Given the description of an element on the screen output the (x, y) to click on. 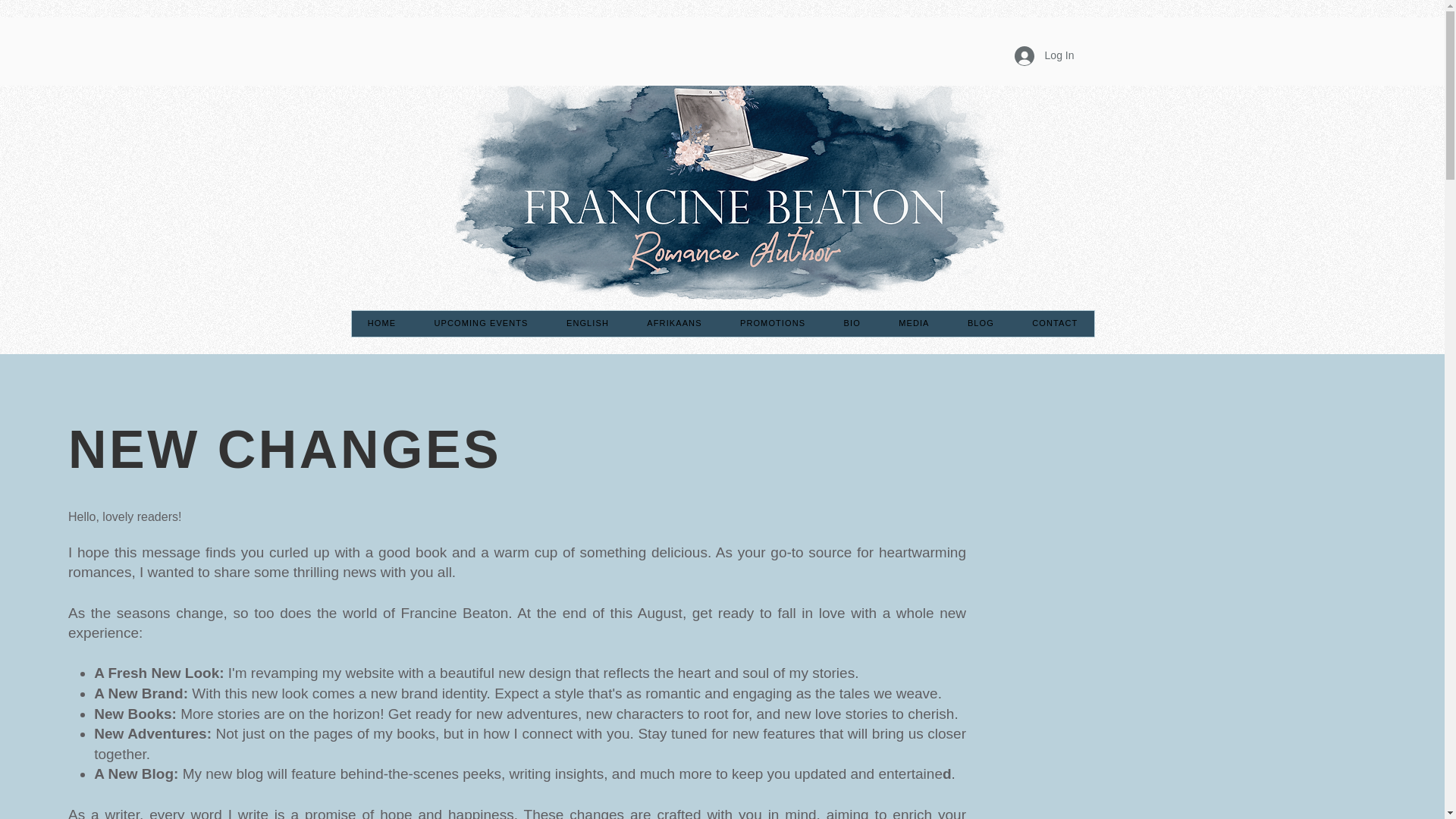
ENGLISH (587, 323)
MEDIA (913, 323)
HOME (382, 323)
PROMOTIONS (772, 323)
BIO (851, 323)
AFRIKAANS (673, 323)
BLOG (981, 323)
CONTACT (1054, 323)
UPCOMING EVENTS (480, 323)
Log In (1044, 55)
